Given the description of an element on the screen output the (x, y) to click on. 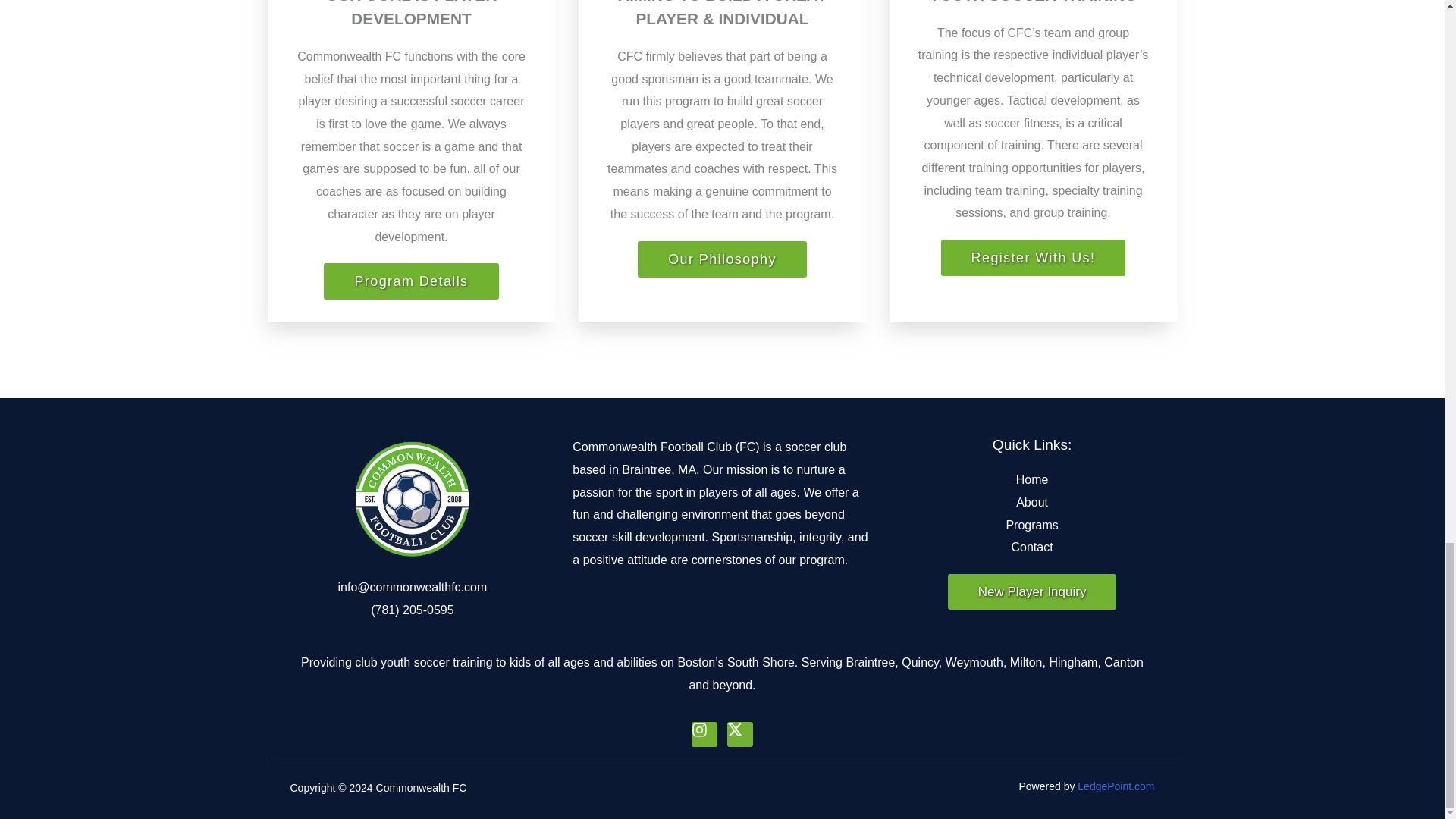
Register With Us! (1032, 257)
Home (1031, 479)
Our Philosophy (721, 258)
About (1031, 502)
New Player Inquiry (1031, 591)
LedgePoint.com (1115, 786)
Program Details (410, 280)
Contact (1031, 547)
Programs (1031, 525)
Instagram (704, 734)
X-twitter (739, 734)
